Given the description of an element on the screen output the (x, y) to click on. 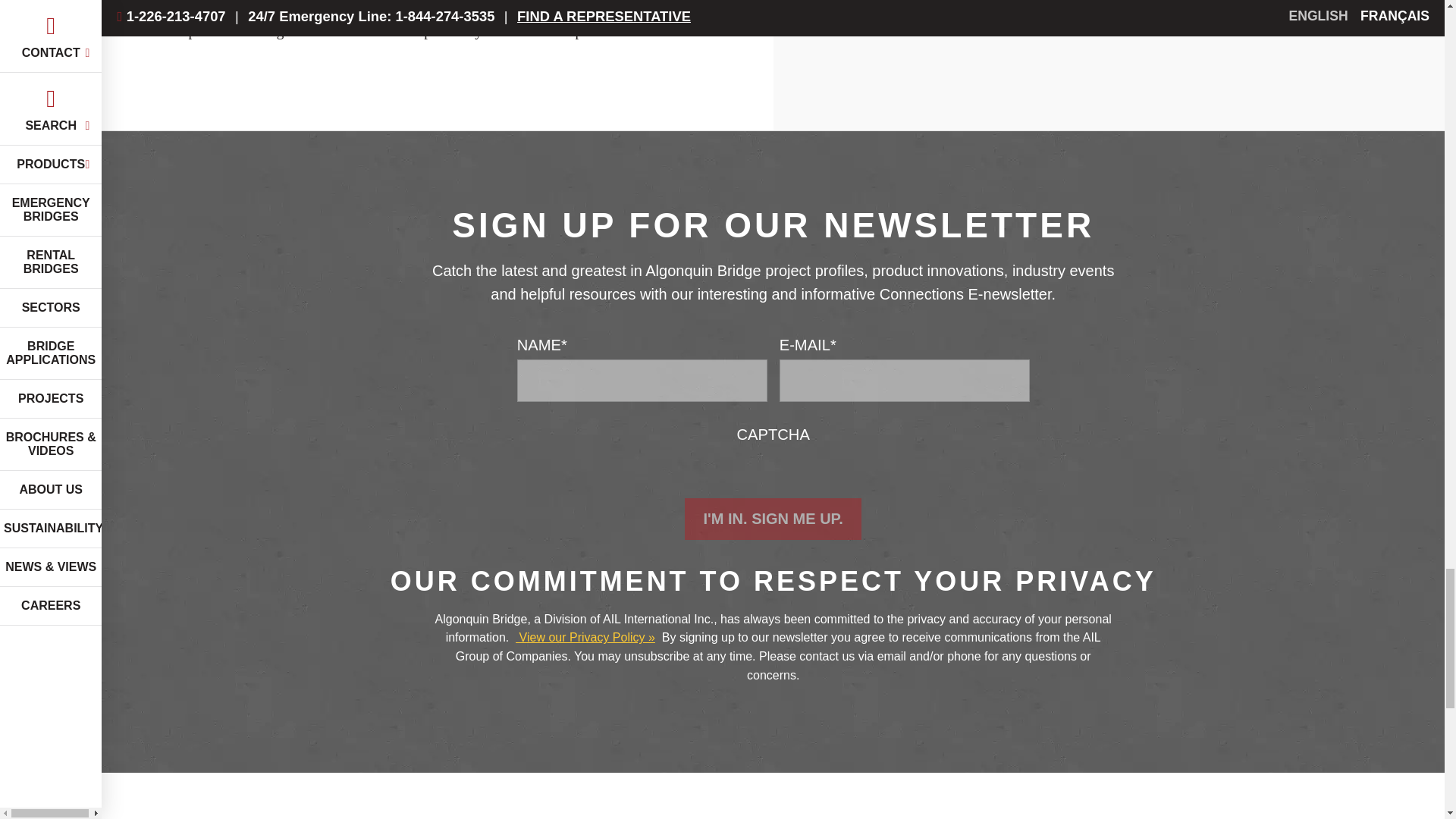
I'm in. Sign me up. (772, 518)
